Given the description of an element on the screen output the (x, y) to click on. 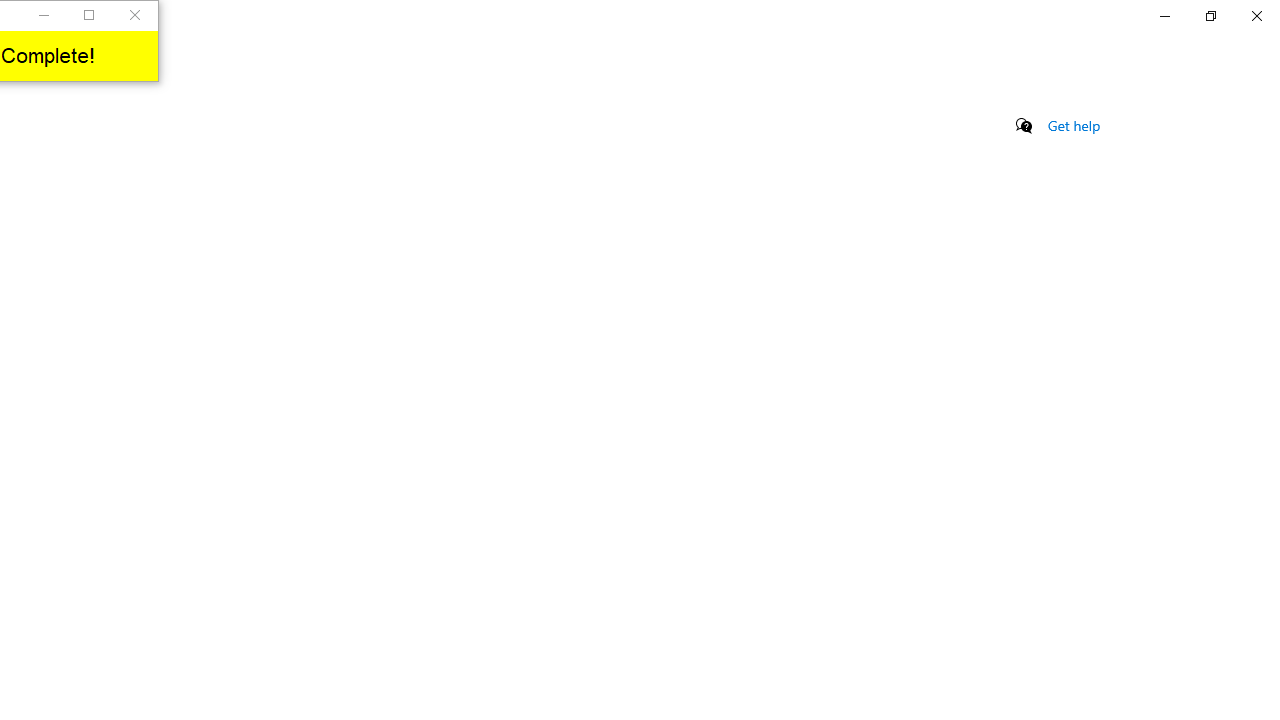
Restore Settings (1210, 15)
Minimize Settings (1164, 15)
Get help (1074, 125)
Close Settings (1256, 15)
